Given the description of an element on the screen output the (x, y) to click on. 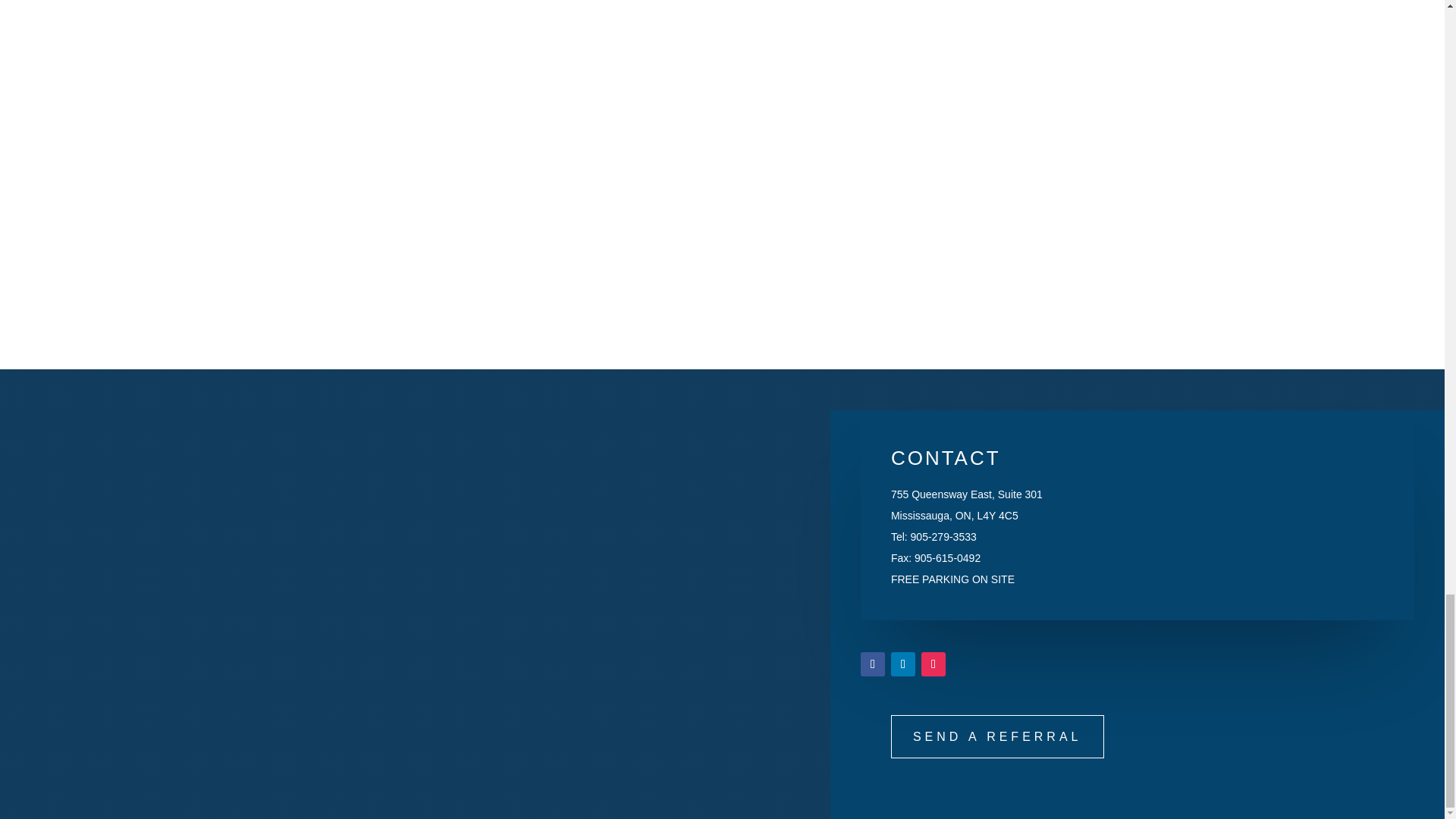
Follow on Instagram (932, 663)
SEND A REFERRAL (997, 736)
Follow on Facebook (872, 663)
Follow on LinkedIn (903, 663)
